Given the description of an element on the screen output the (x, y) to click on. 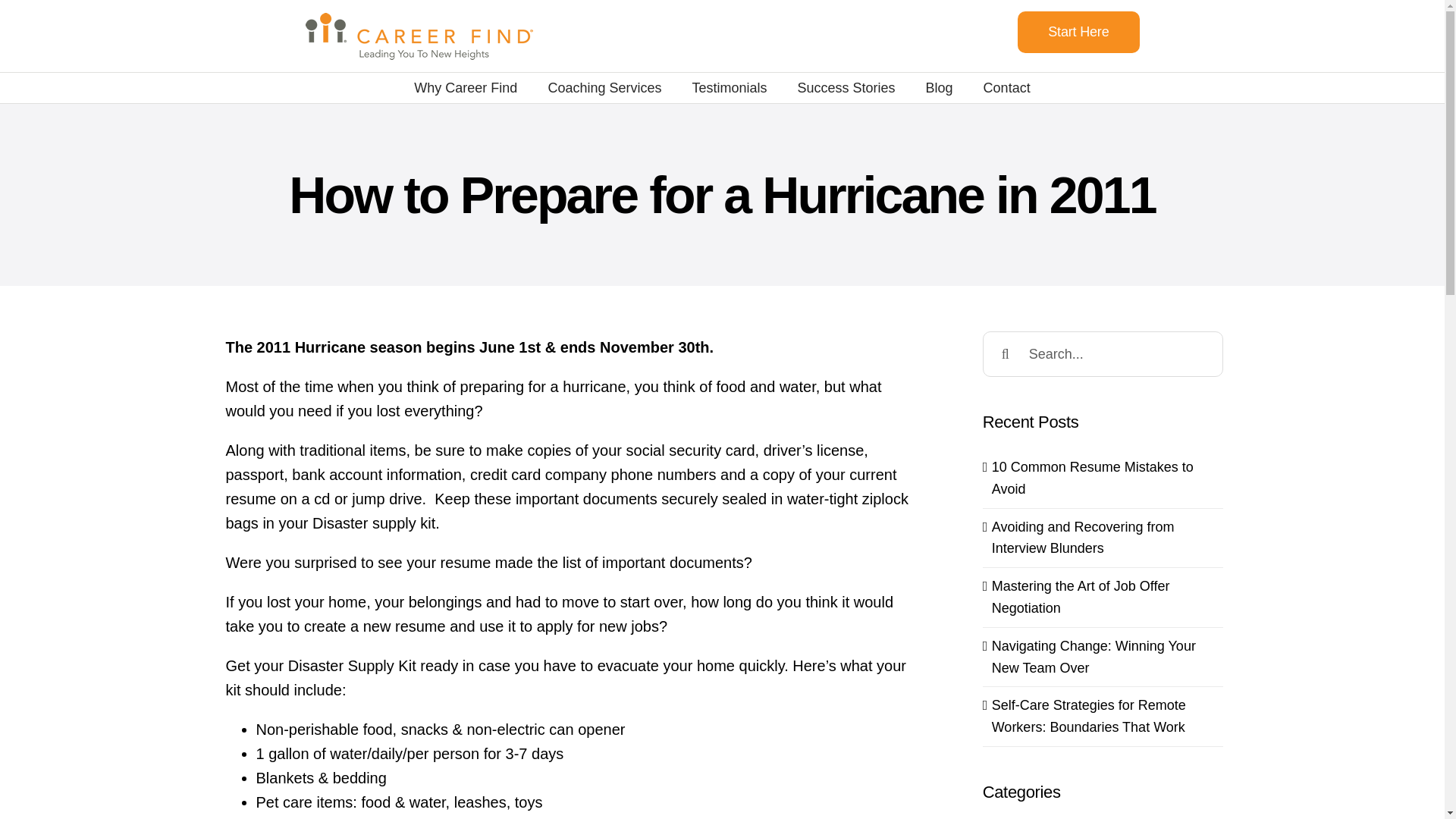
Contact (1007, 87)
Why Career Find (464, 87)
Start Here (1077, 32)
10 Common Resume Mistakes to Avoid (1092, 477)
Navigating Change: Winning Your New Team Over (1093, 656)
Mastering the Art of Job Offer Negotiation (1080, 596)
Success Stories (846, 87)
Blog (939, 87)
Testimonials (729, 87)
